Given the description of an element on the screen output the (x, y) to click on. 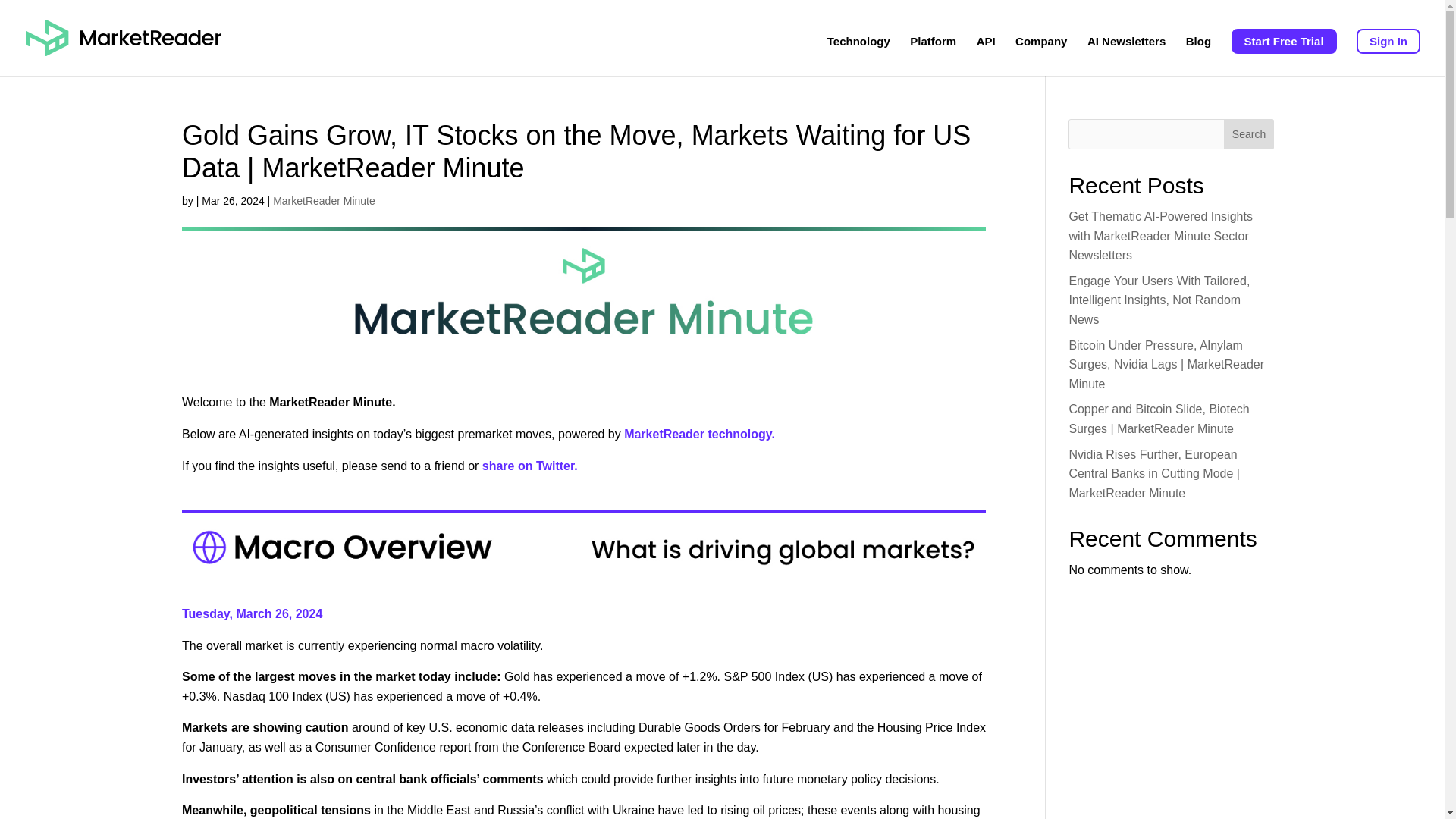
AI Newsletters (1126, 56)
share on Twitter. (529, 465)
Search (1249, 133)
MarketReader Minute (324, 200)
Start Free Trial (1283, 41)
Company (1040, 56)
MarketReader technology. (699, 433)
Technology (858, 56)
Platform (933, 56)
Sign In (1388, 41)
